Given the description of an element on the screen output the (x, y) to click on. 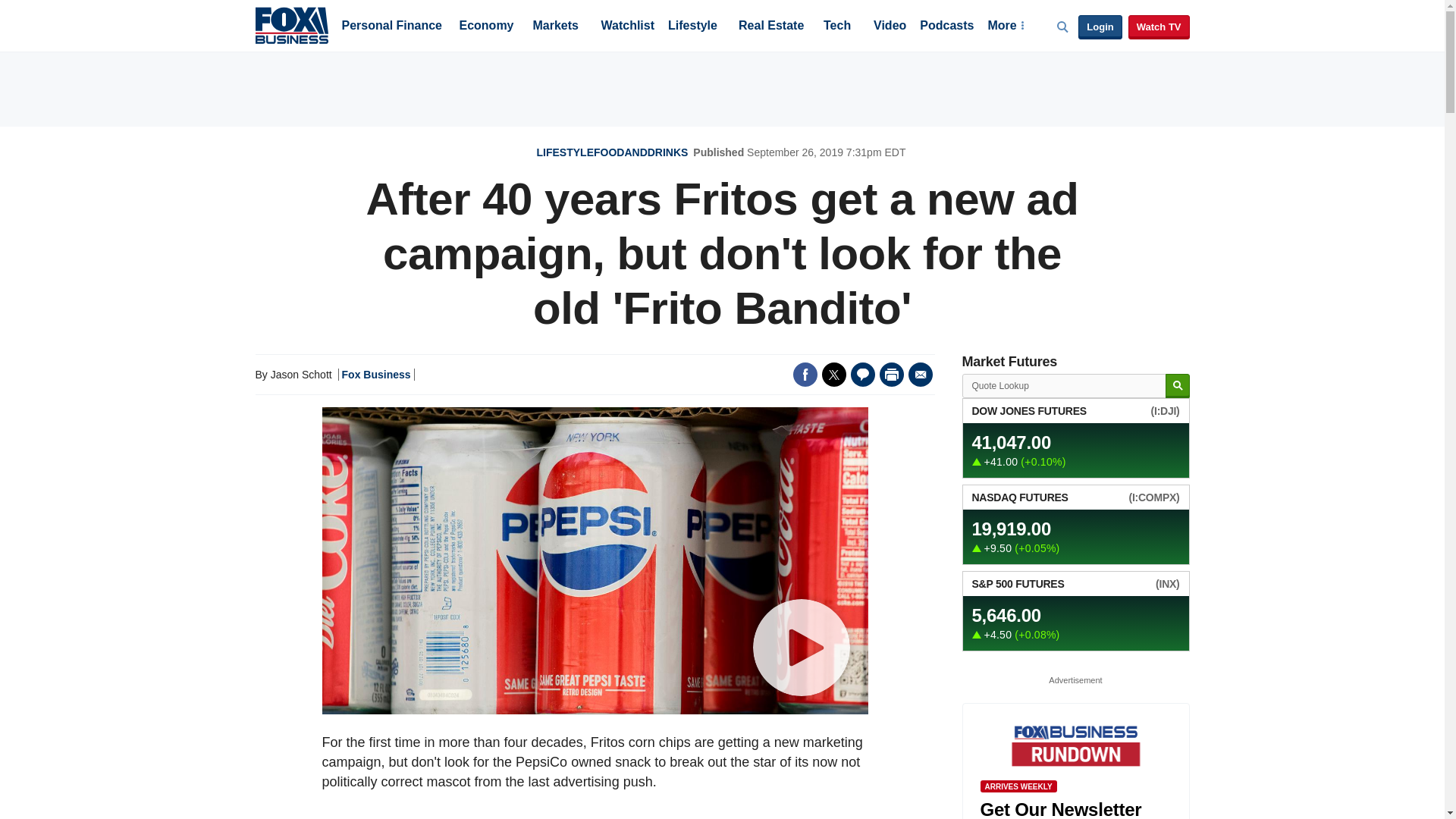
Fox Business (290, 24)
Login (1099, 27)
Markets (555, 27)
Podcasts (947, 27)
Lifestyle (692, 27)
Personal Finance (391, 27)
Search (1176, 385)
Real Estate (770, 27)
Economy (486, 27)
Search (1176, 385)
